Given the description of an element on the screen output the (x, y) to click on. 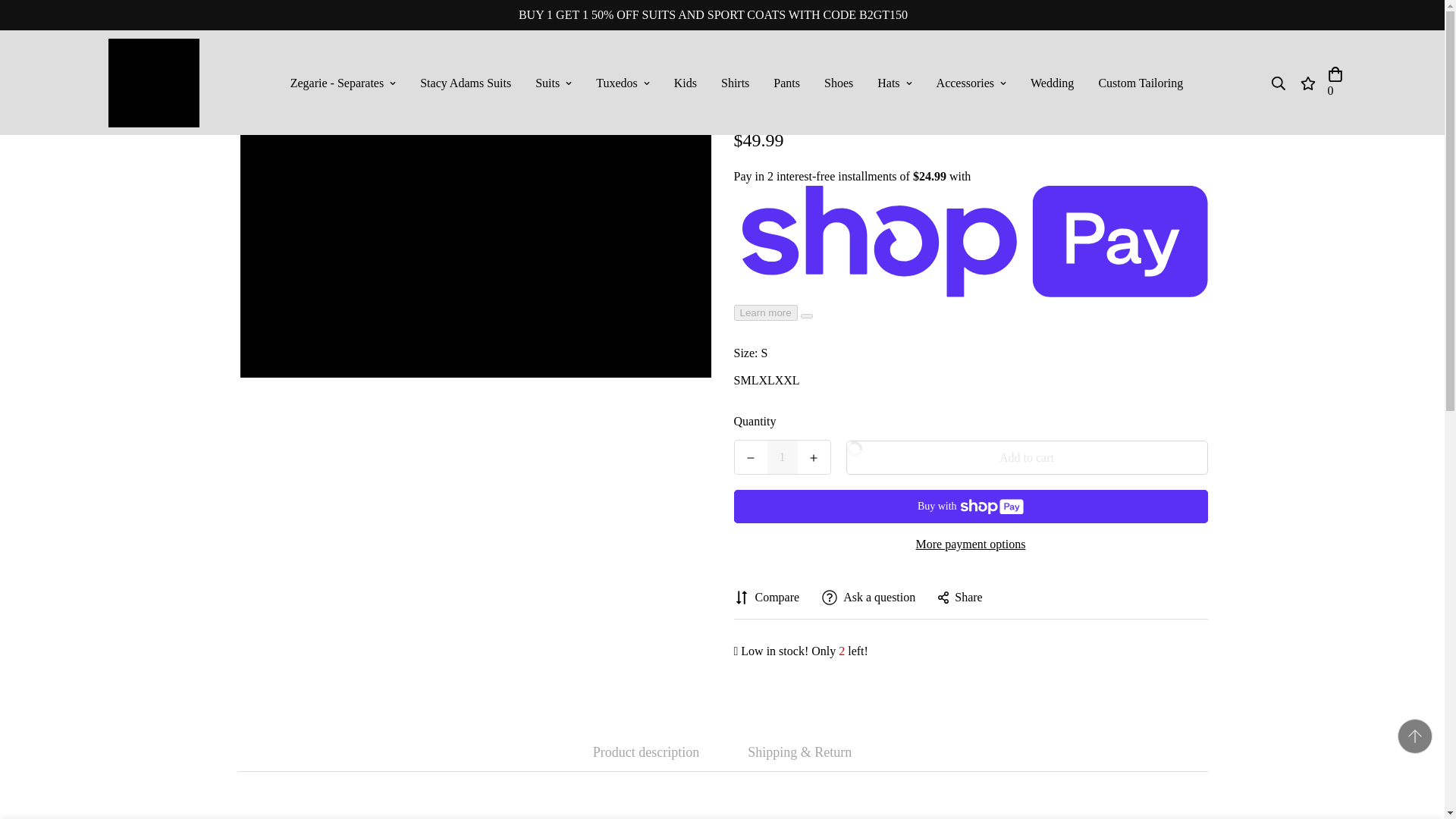
Shirts (735, 82)
Kids (685, 82)
Suits (552, 82)
Pants (786, 82)
Back to the home page (638, 52)
1 (782, 457)
Stacy Adams Suits (464, 82)
Zegarie - Separates (342, 82)
Accessories (970, 82)
